Given the description of an element on the screen output the (x, y) to click on. 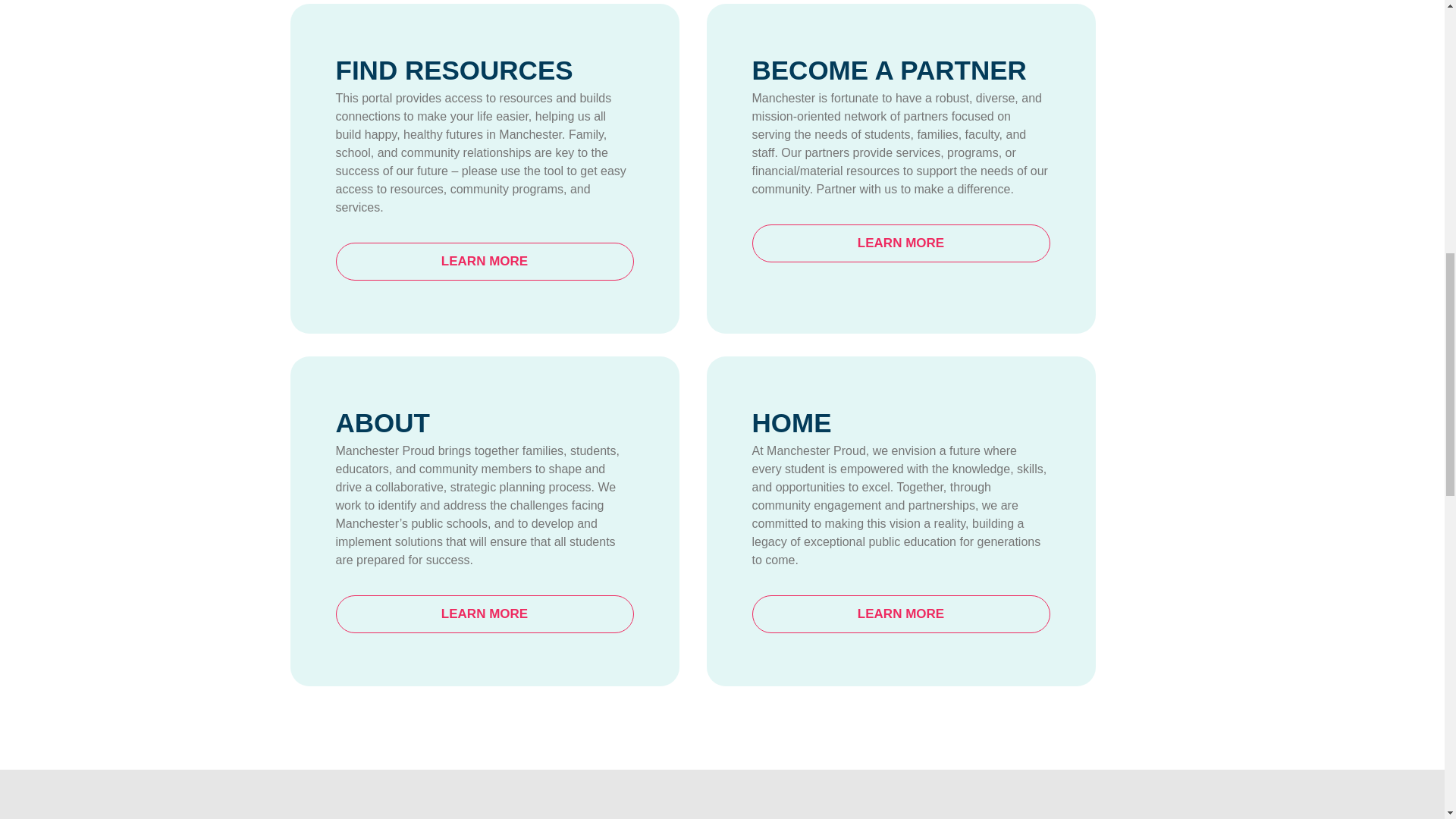
LEARN MORE (900, 614)
LEARN MORE (900, 243)
LEARN MORE (483, 261)
LEARN MORE (483, 614)
